Given the description of an element on the screen output the (x, y) to click on. 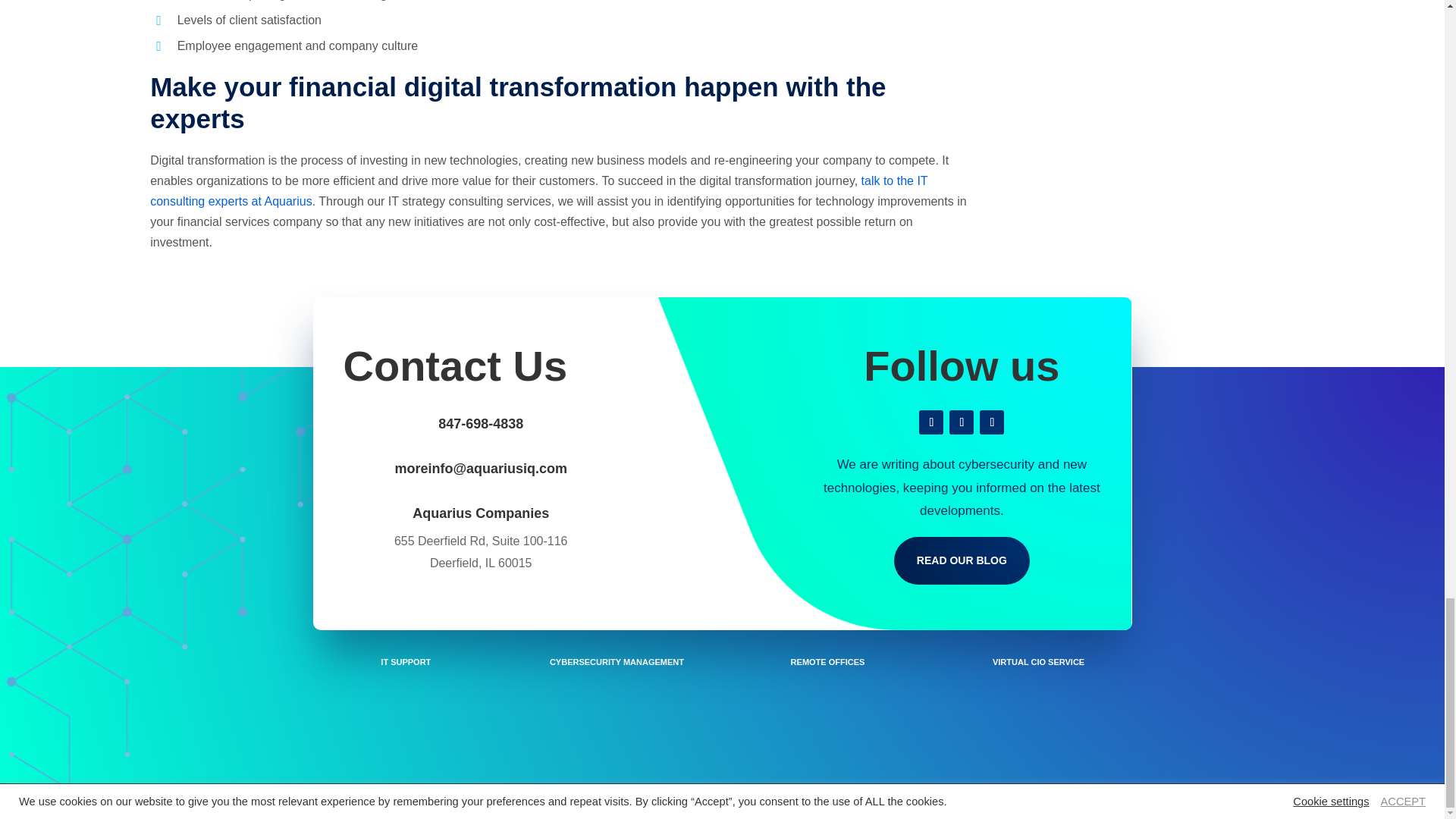
Follow on Facebook (930, 422)
Follow on LinkedIn (991, 422)
Follow on Instagram (961, 422)
